Given the description of an element on the screen output the (x, y) to click on. 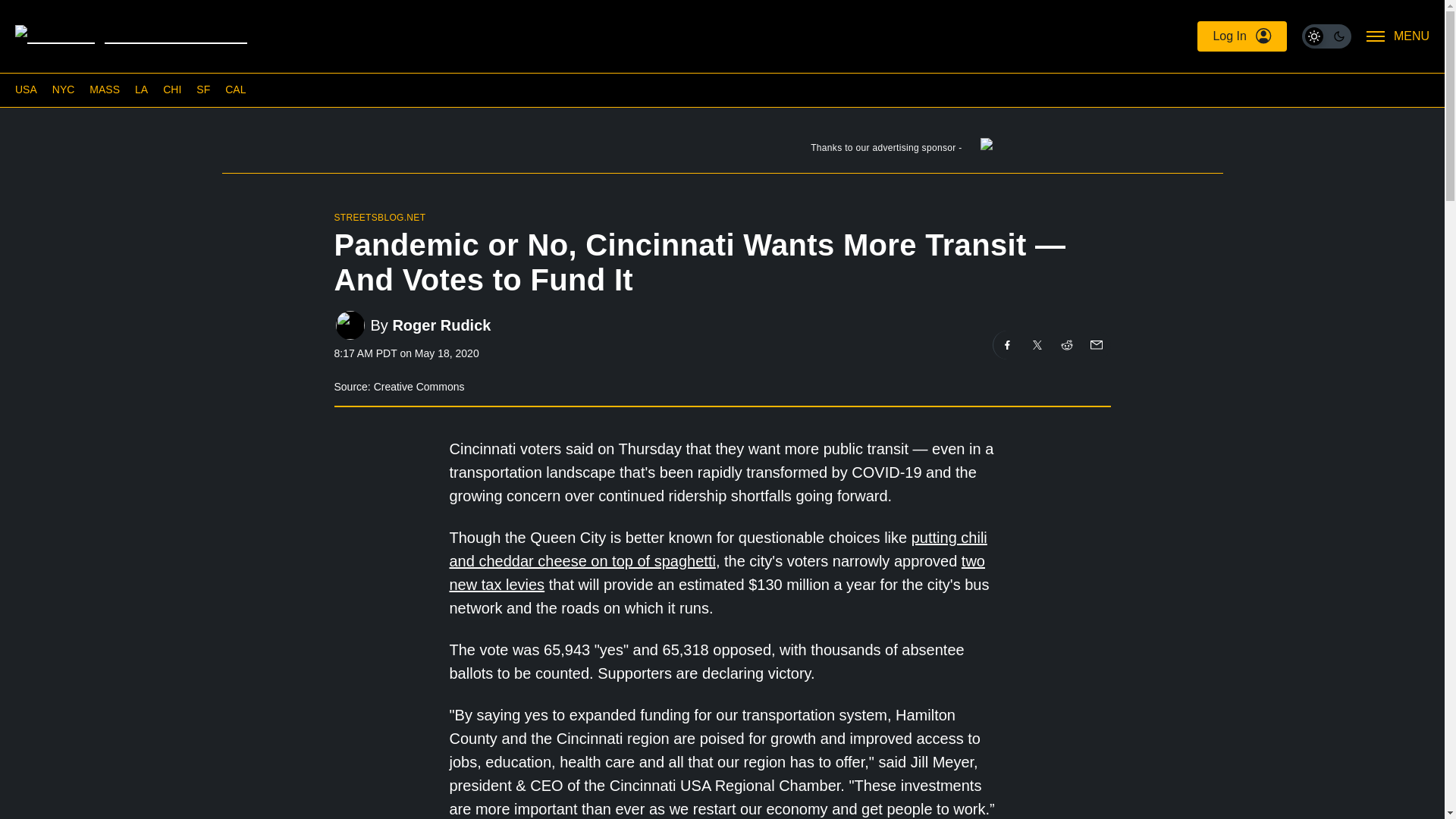
Share on Email (1095, 344)
Roger Rudick (440, 325)
Share on Reddit (1066, 344)
Log In (1240, 36)
putting chili and cheddar cheese on top of spaghetti (717, 549)
USA (25, 89)
LA (141, 89)
STREETSBLOG.NET (379, 217)
SF (202, 89)
two new tax levies (716, 572)
MASS (103, 89)
CAL (235, 89)
Thanks to our advertising sponsor - (721, 150)
CHI (171, 89)
Share on Facebook (1007, 344)
